Given the description of an element on the screen output the (x, y) to click on. 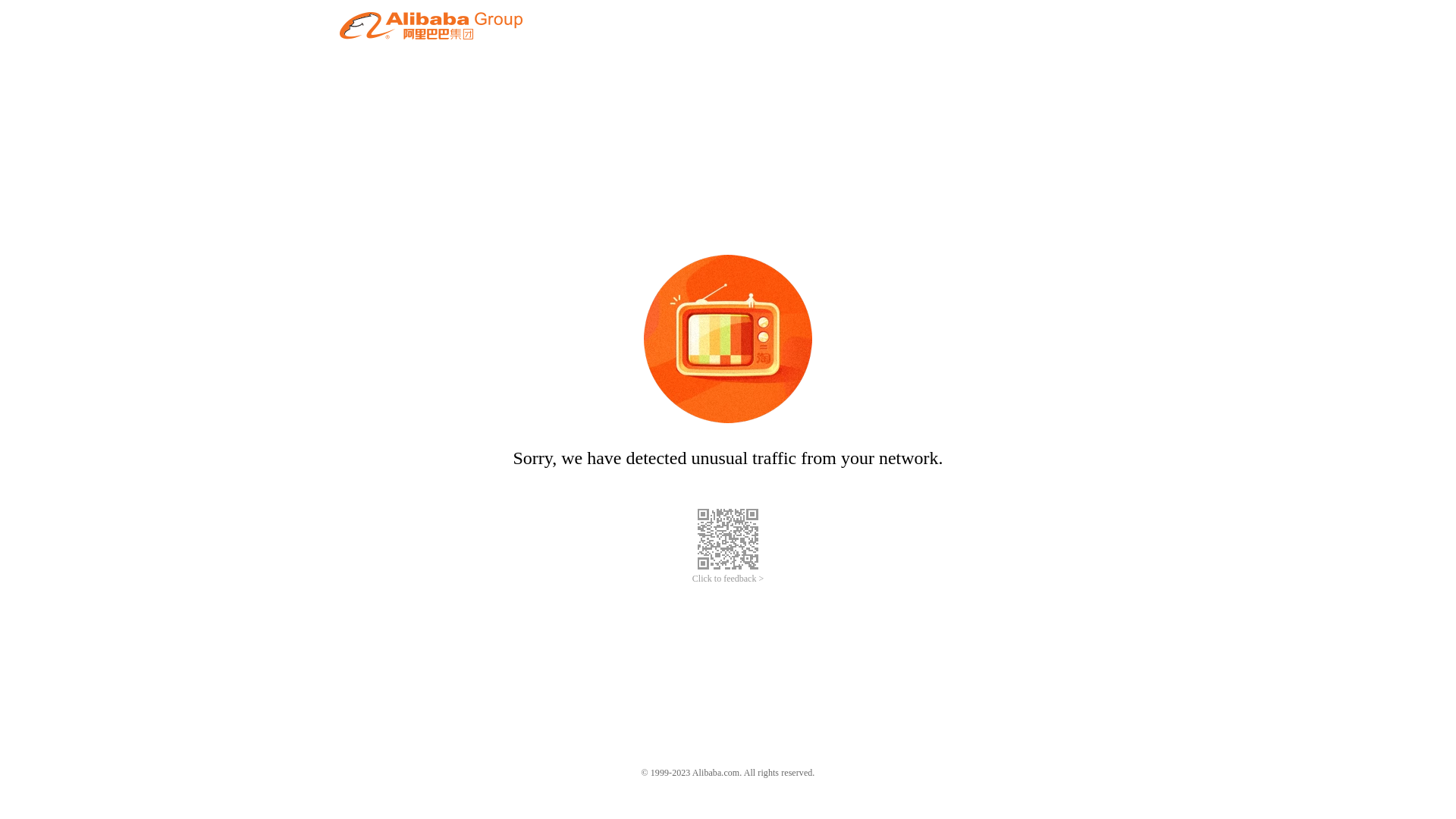
Click to feedback > Element type: text (727, 578)
